Given the description of an element on the screen output the (x, y) to click on. 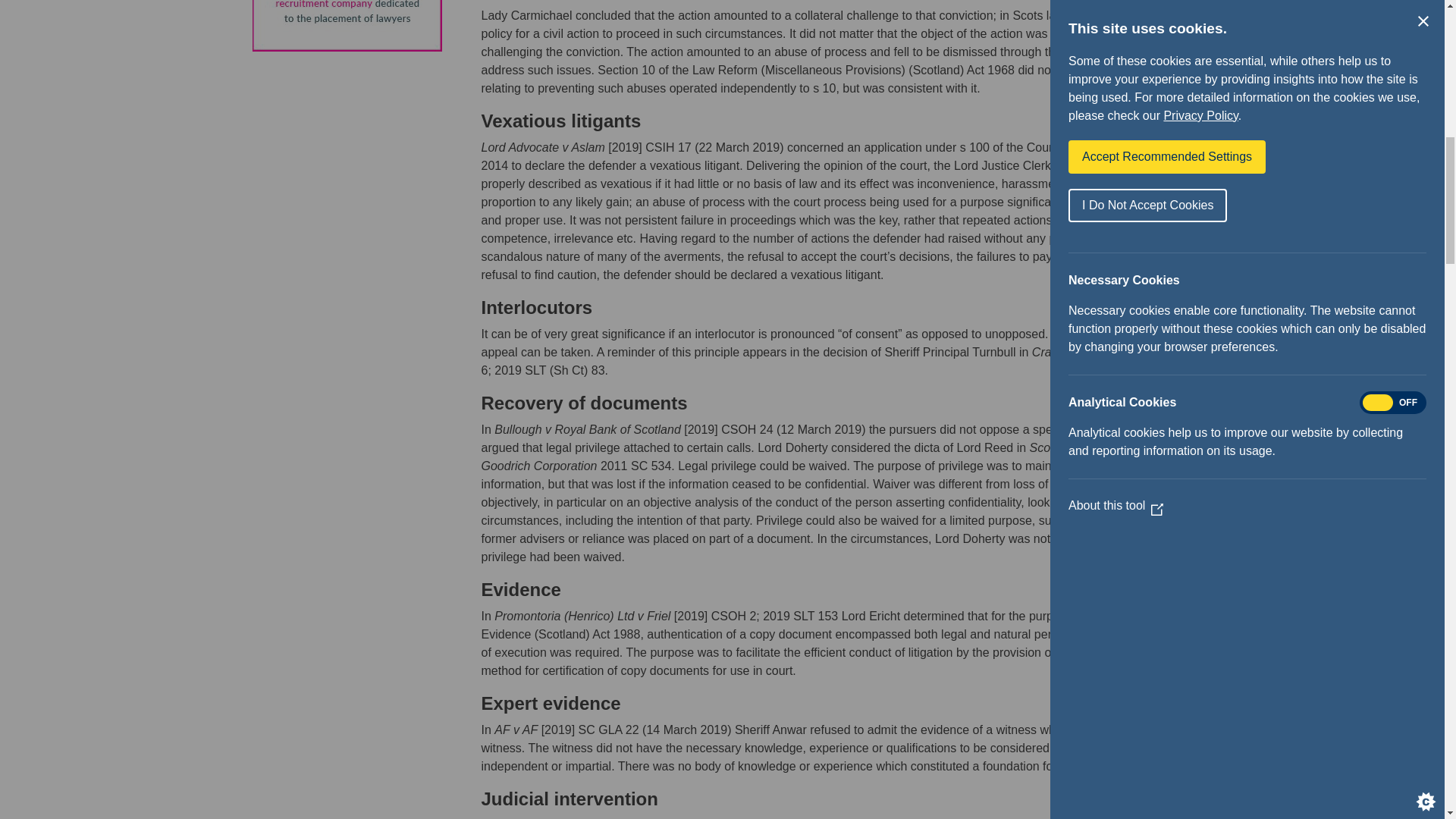
View current vacancies (346, 25)
